Given the description of an element on the screen output the (x, y) to click on. 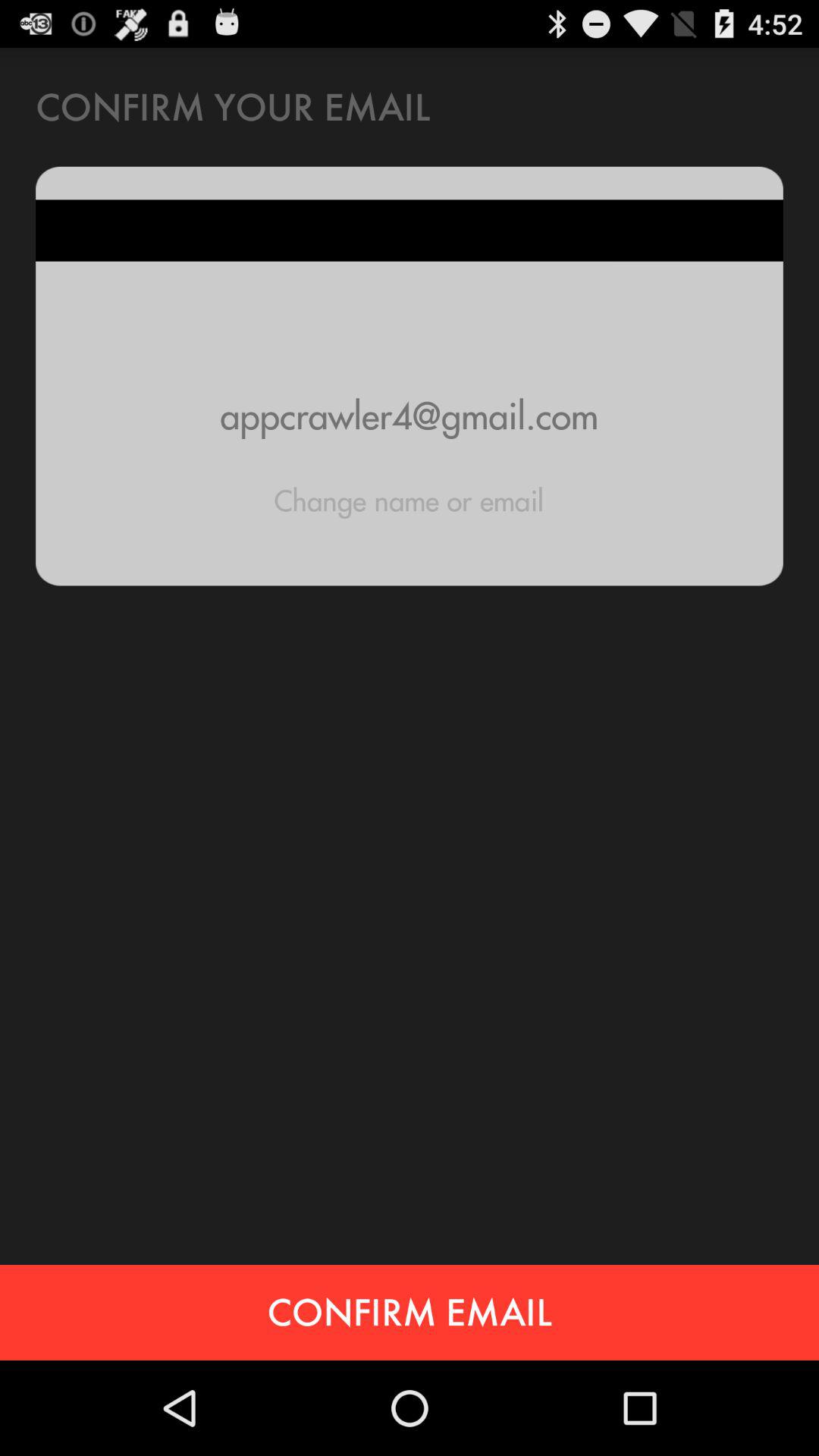
turn off icon above the confirm email item (409, 500)
